Given the description of an element on the screen output the (x, y) to click on. 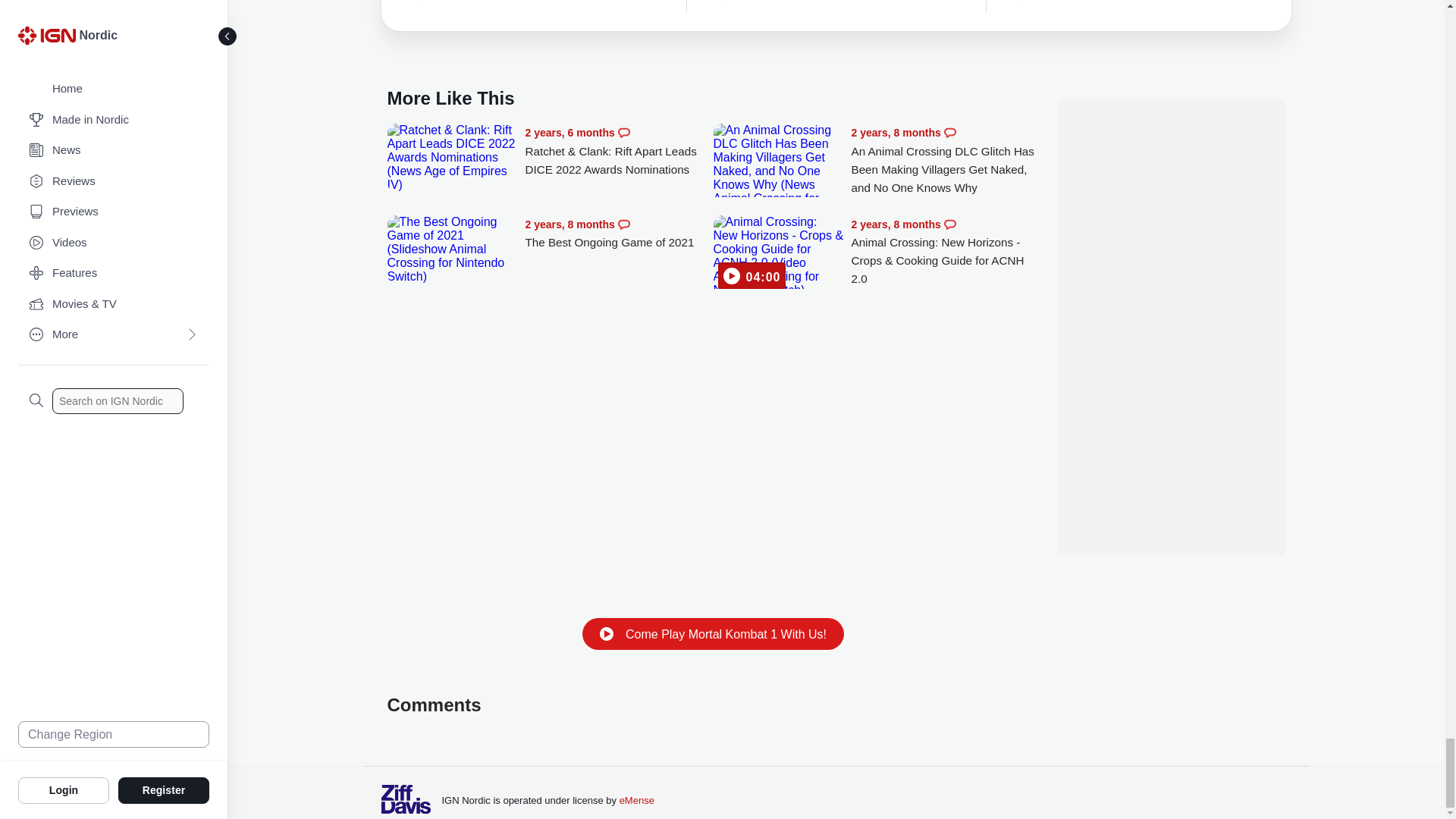
Comments (623, 132)
Comments (623, 224)
Comments (949, 132)
The Best Ongoing Game of 2021 (451, 249)
The Best Ongoing Game of 2021 (618, 233)
